Given the description of an element on the screen output the (x, y) to click on. 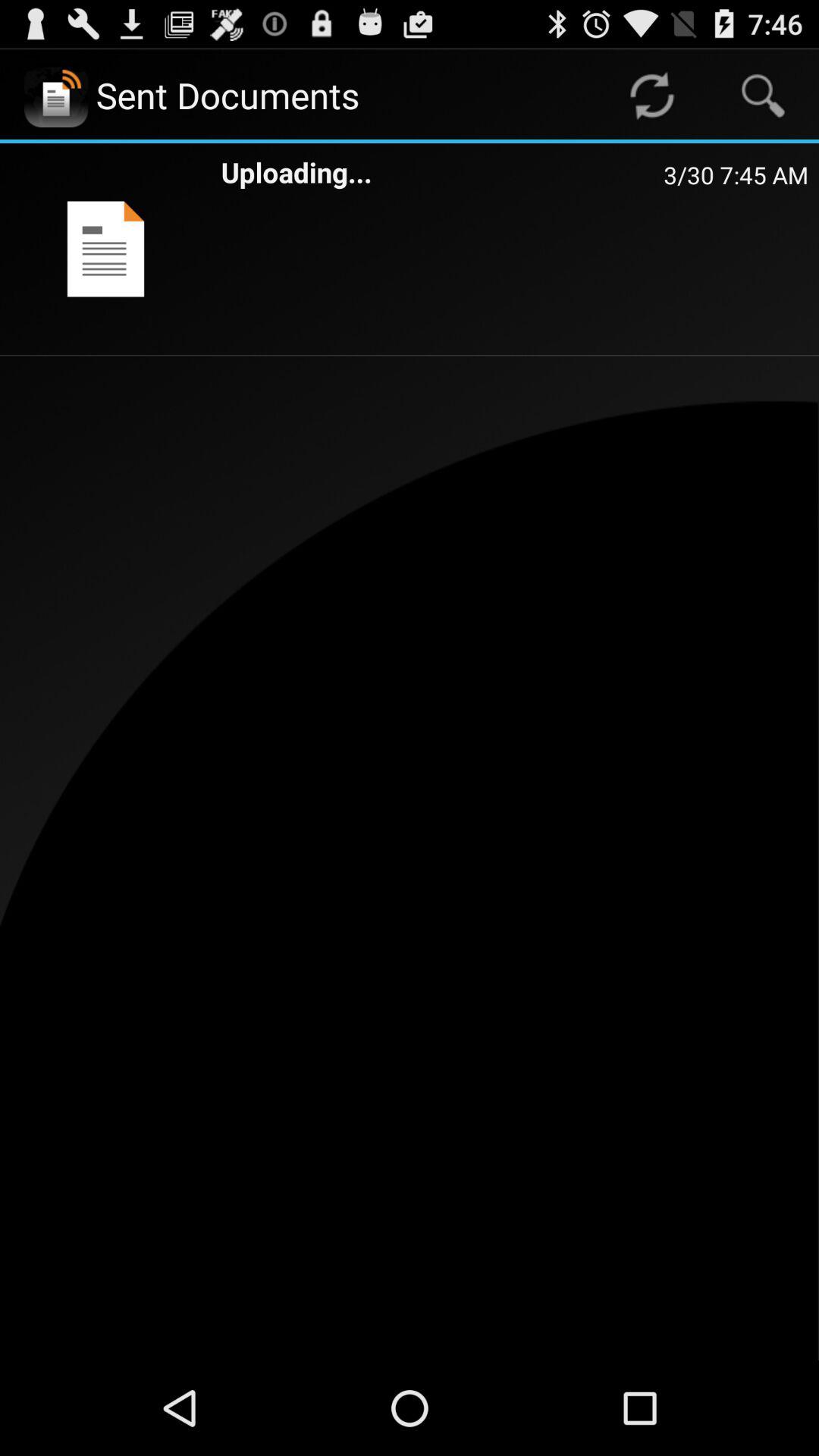
press app above uploading... icon (651, 95)
